Given the description of an element on the screen output the (x, y) to click on. 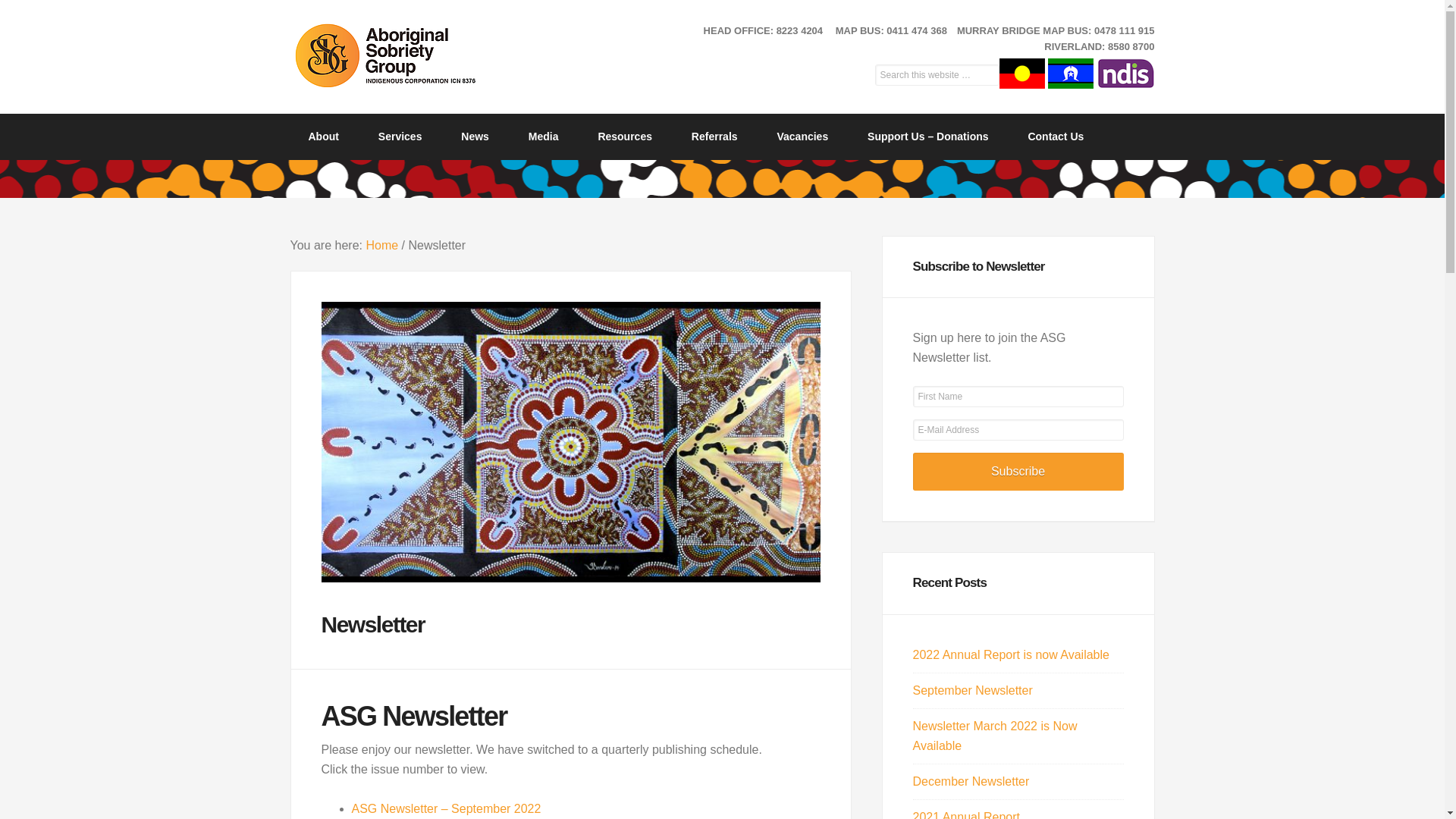
Aboriginal Sobriety Group Element type: text (410, 54)
Services Element type: text (400, 136)
December Newsletter Element type: text (971, 781)
Newsletter Element type: hover (570, 600)
Media Element type: text (543, 136)
Resources Element type: text (624, 136)
September Newsletter Element type: text (972, 690)
Referrals Element type: text (714, 136)
Home Element type: text (381, 244)
Vacancies Element type: text (802, 136)
Subscribe Element type: text (1018, 471)
Newsletter March 2022 is Now Available Element type: text (995, 735)
News Element type: text (474, 136)
Contact Us Element type: text (1055, 136)
Search Element type: text (998, 63)
About Element type: text (322, 136)
2022 Annual Report is now Available Element type: text (1011, 654)
